Given the description of an element on the screen output the (x, y) to click on. 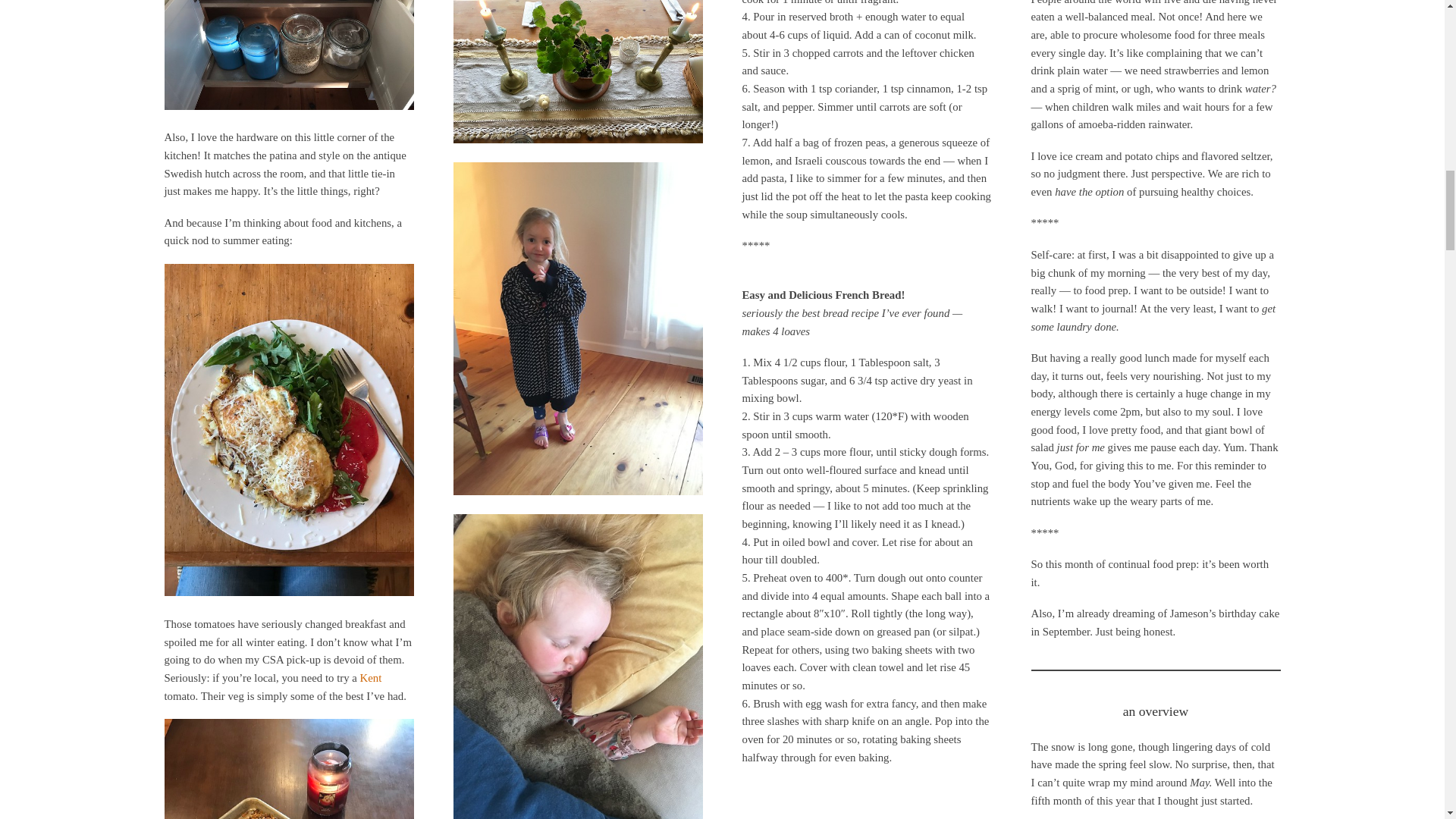
Kent (370, 677)
